Given the description of an element on the screen output the (x, y) to click on. 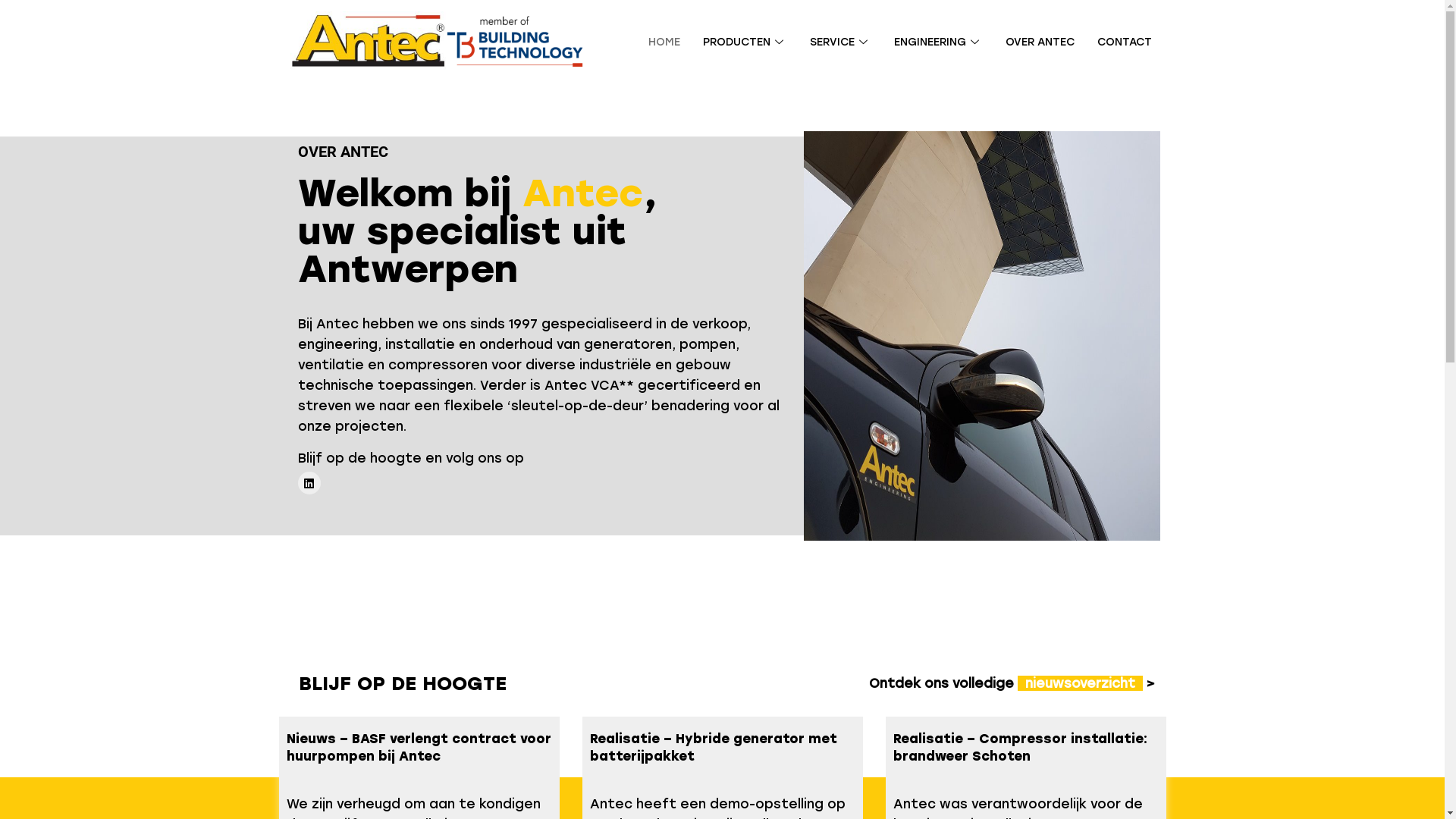
ENGINEERING Element type: text (926, 41)
OVER ANTEC Element type: text (1028, 41)
  nieuwsoverzicht   Element type: text (1079, 682)
HOME Element type: text (652, 41)
SERVICE Element type: text (829, 41)
PRODUCTEN Element type: text (733, 41)
CONTACT Element type: text (1112, 41)
